Given the description of an element on the screen output the (x, y) to click on. 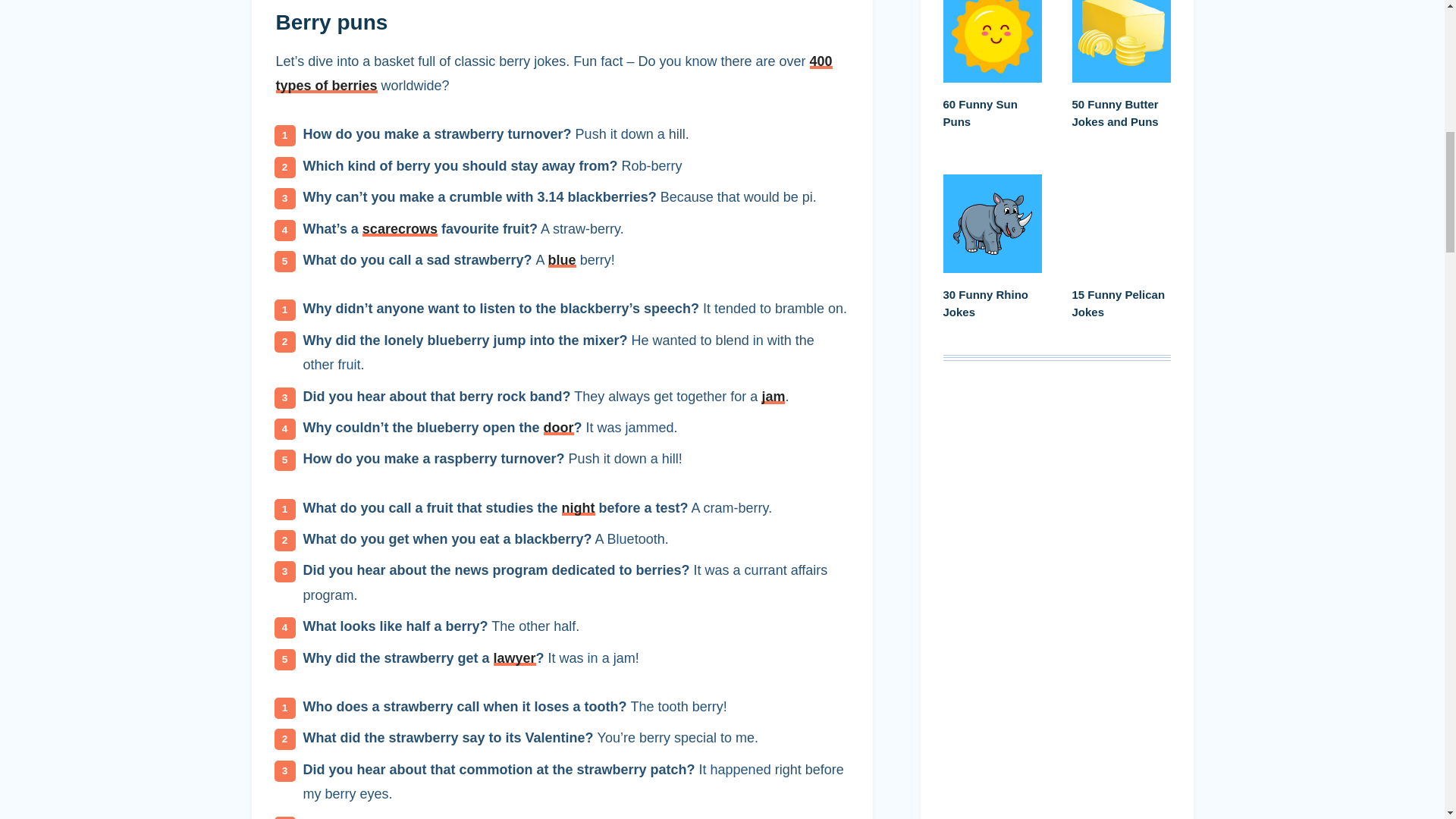
door (558, 427)
400 types of berries (554, 73)
blue (562, 259)
lawyer (514, 657)
scarecrows (400, 228)
jam (772, 395)
blue (562, 259)
door (558, 427)
